Given the description of an element on the screen output the (x, y) to click on. 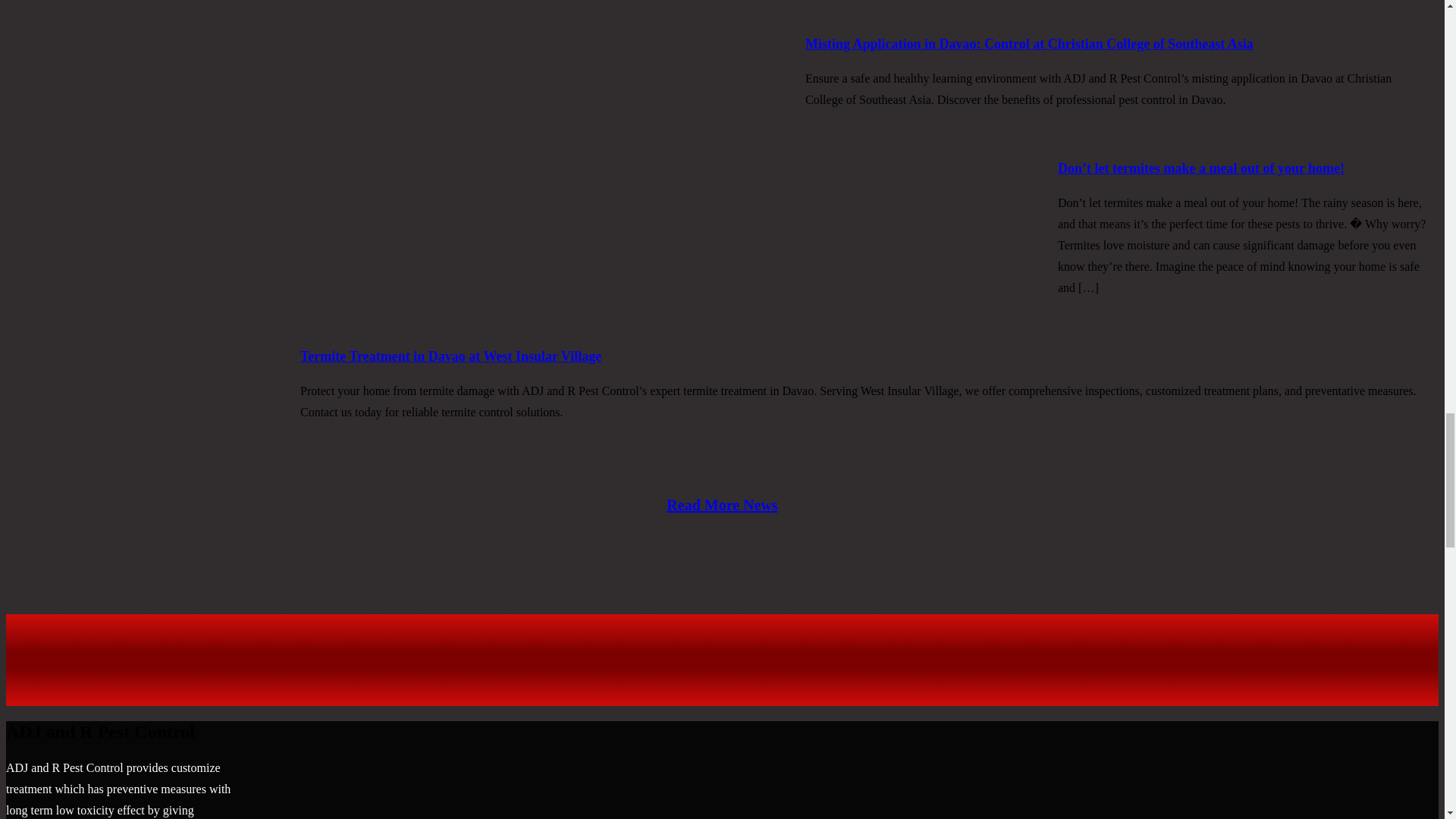
Termite Treatment at Ladislawa Village (418, 20)
